Given the description of an element on the screen output the (x, y) to click on. 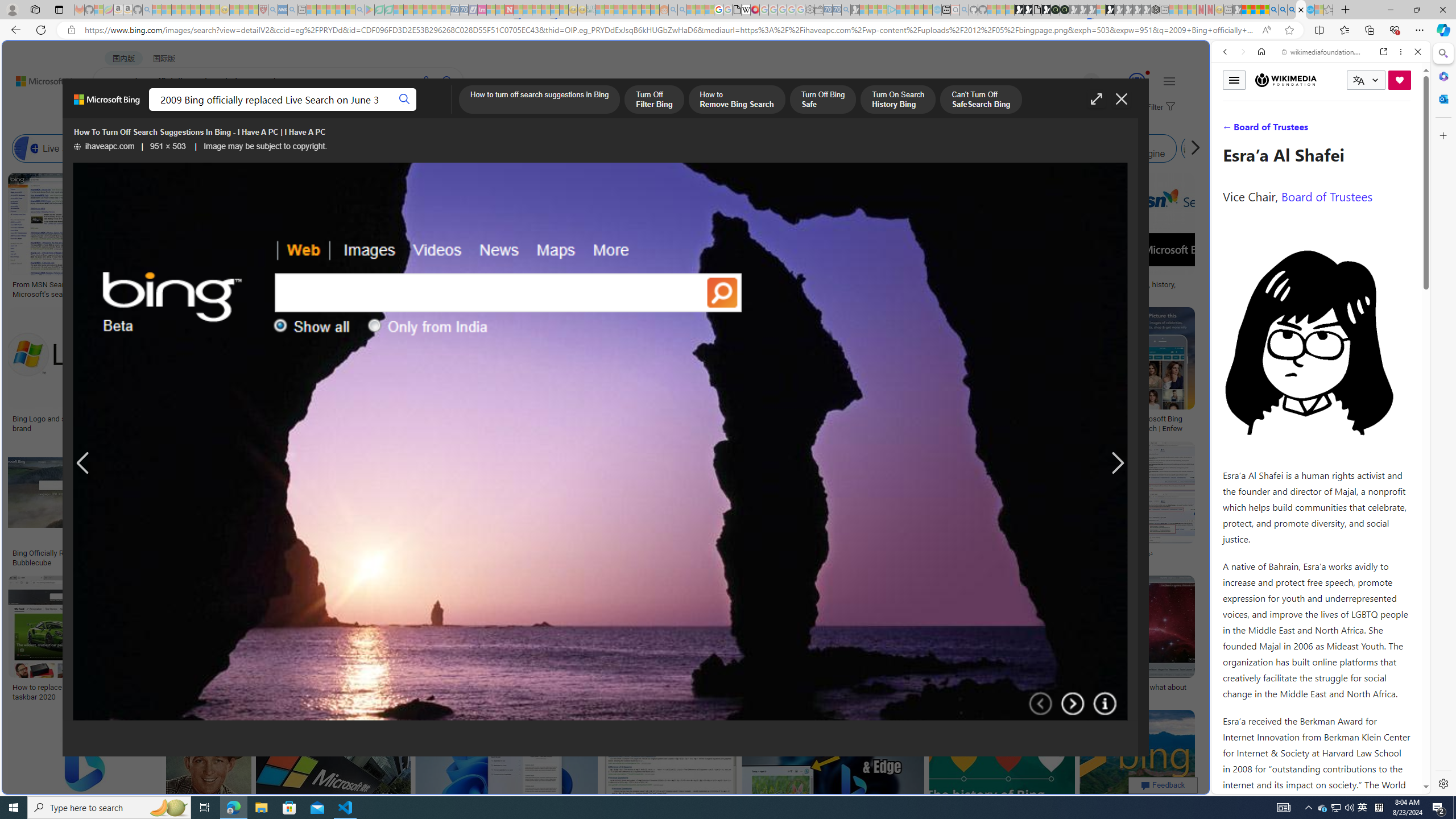
WEB   (1230, 130)
Class: b_serphb (1404, 130)
Animation (1147, 72)
Trusted Community Engagement and Contributions | Guidelines (518, 9)
Class: item col (1233, 148)
Favorites - Sleeping (1328, 9)
Expert Portfolios - Sleeping (627, 9)
MY BING (156, 111)
Bing Ai Search Engine Powered (472, 148)
